Given the description of an element on the screen output the (x, y) to click on. 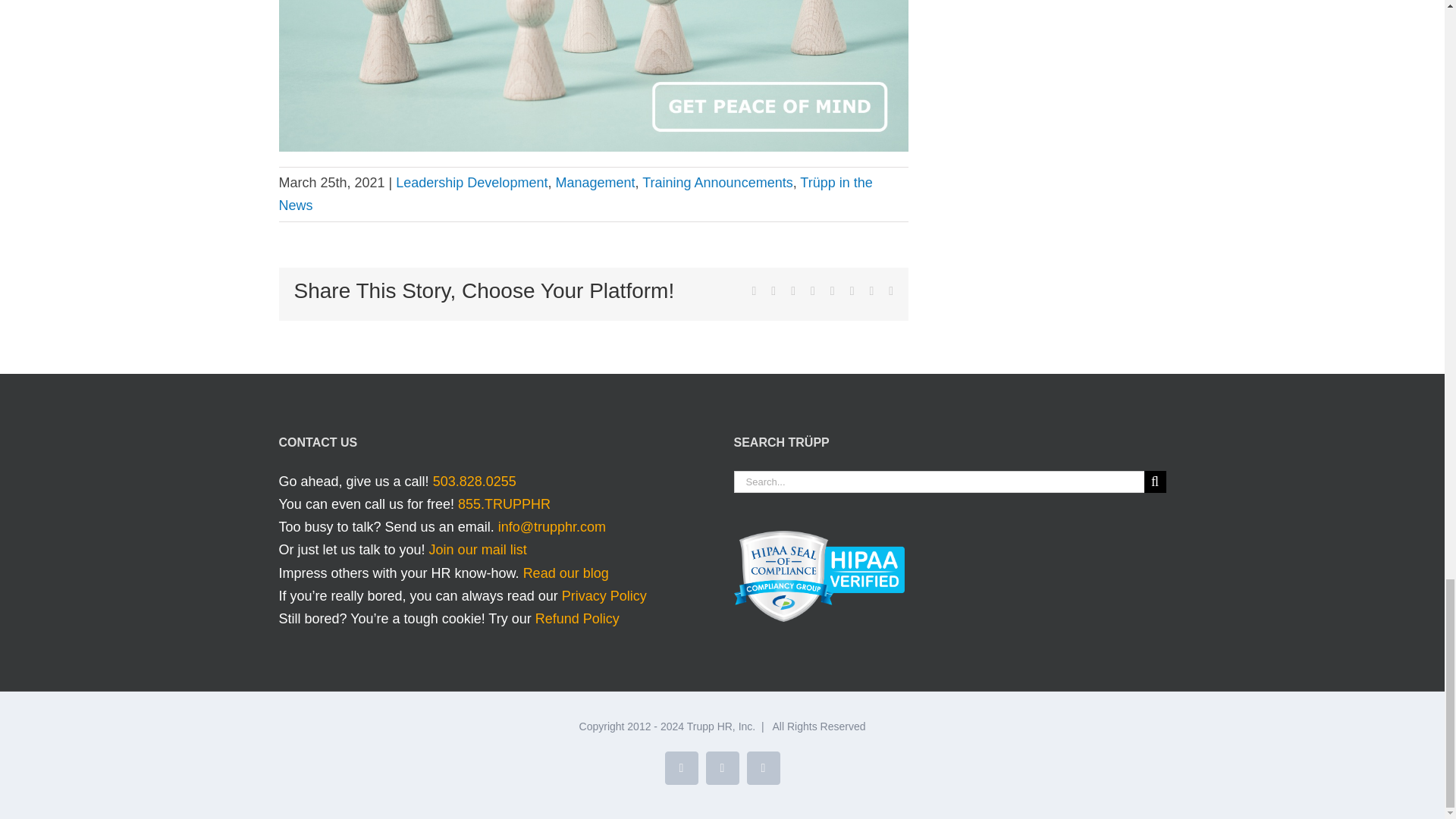
LinkedIn (680, 767)
Facebook (721, 767)
